Given the description of an element on the screen output the (x, y) to click on. 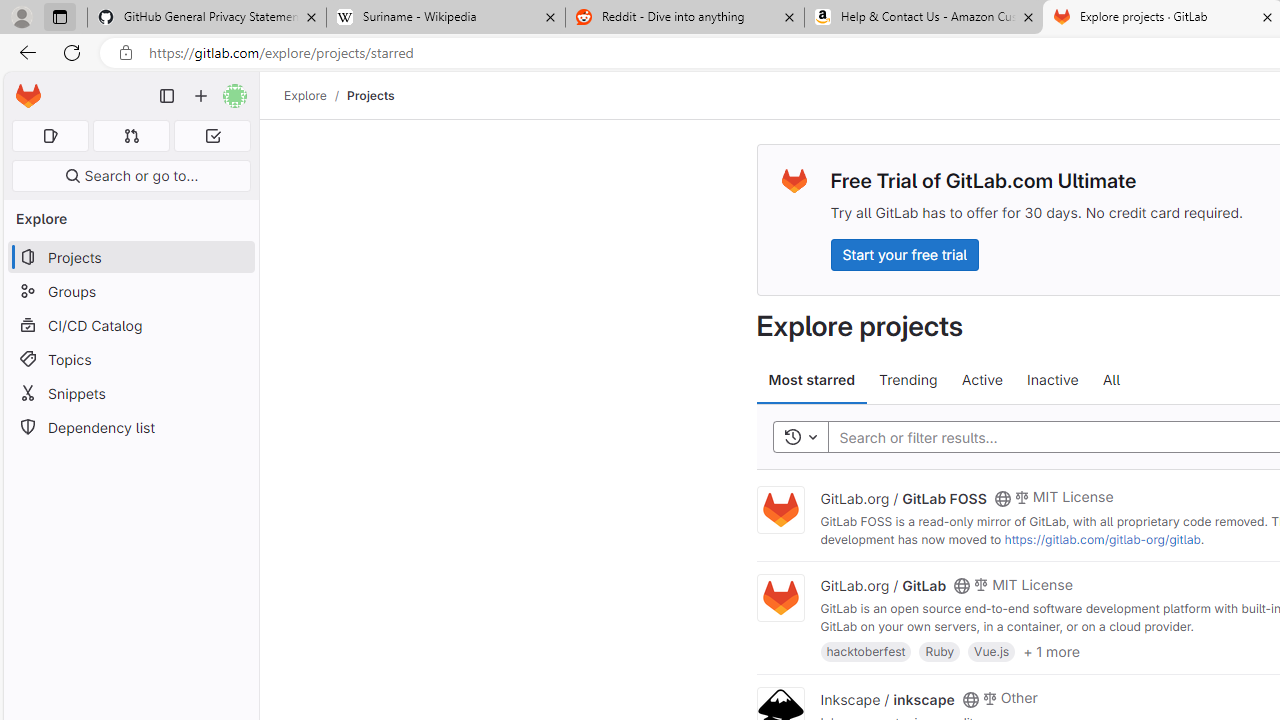
Groups (130, 291)
Groups (130, 291)
Class: s14 gl-mr-2 (989, 696)
Class: s16 (970, 699)
Suriname - Wikipedia (445, 17)
https://gitlab.com/gitlab-org/gitlab (1101, 539)
Ruby (940, 650)
Projects (370, 95)
GitLab.org / GitLab FOSS (903, 497)
All (1111, 379)
Toggle history (800, 437)
GitLab.org / GitLab (883, 585)
Explore (305, 95)
